Given the description of an element on the screen output the (x, y) to click on. 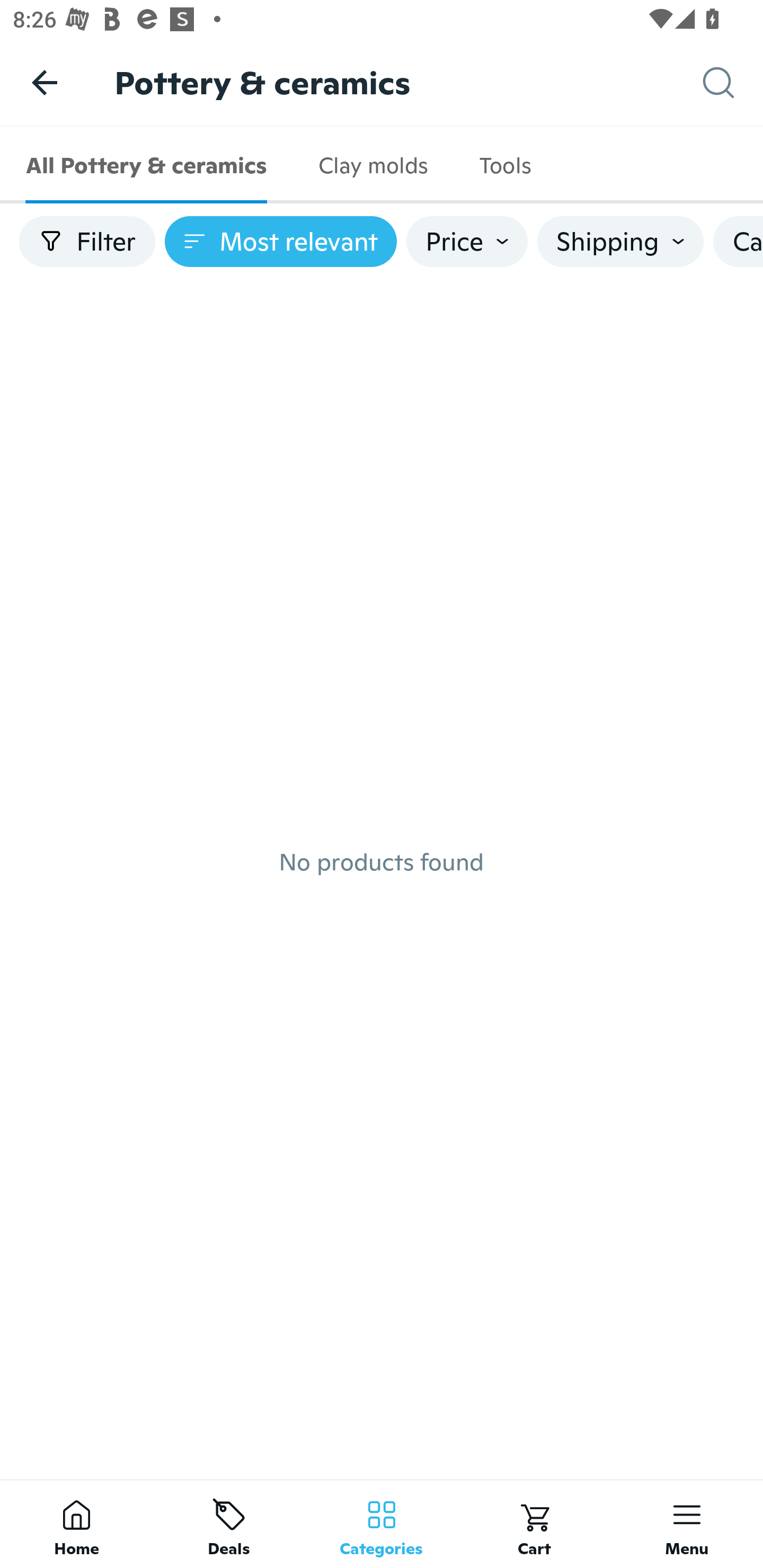
Navigate up (44, 82)
Search (732, 82)
All Pottery & ceramics (146, 165)
Clay molds (372, 165)
Tools (504, 165)
Filter (86, 241)
Most relevant (280, 241)
Price (466, 241)
Shipping (620, 241)
Home (76, 1523)
Deals (228, 1523)
Categories (381, 1523)
Cart (533, 1523)
Menu (686, 1523)
